Given the description of an element on the screen output the (x, y) to click on. 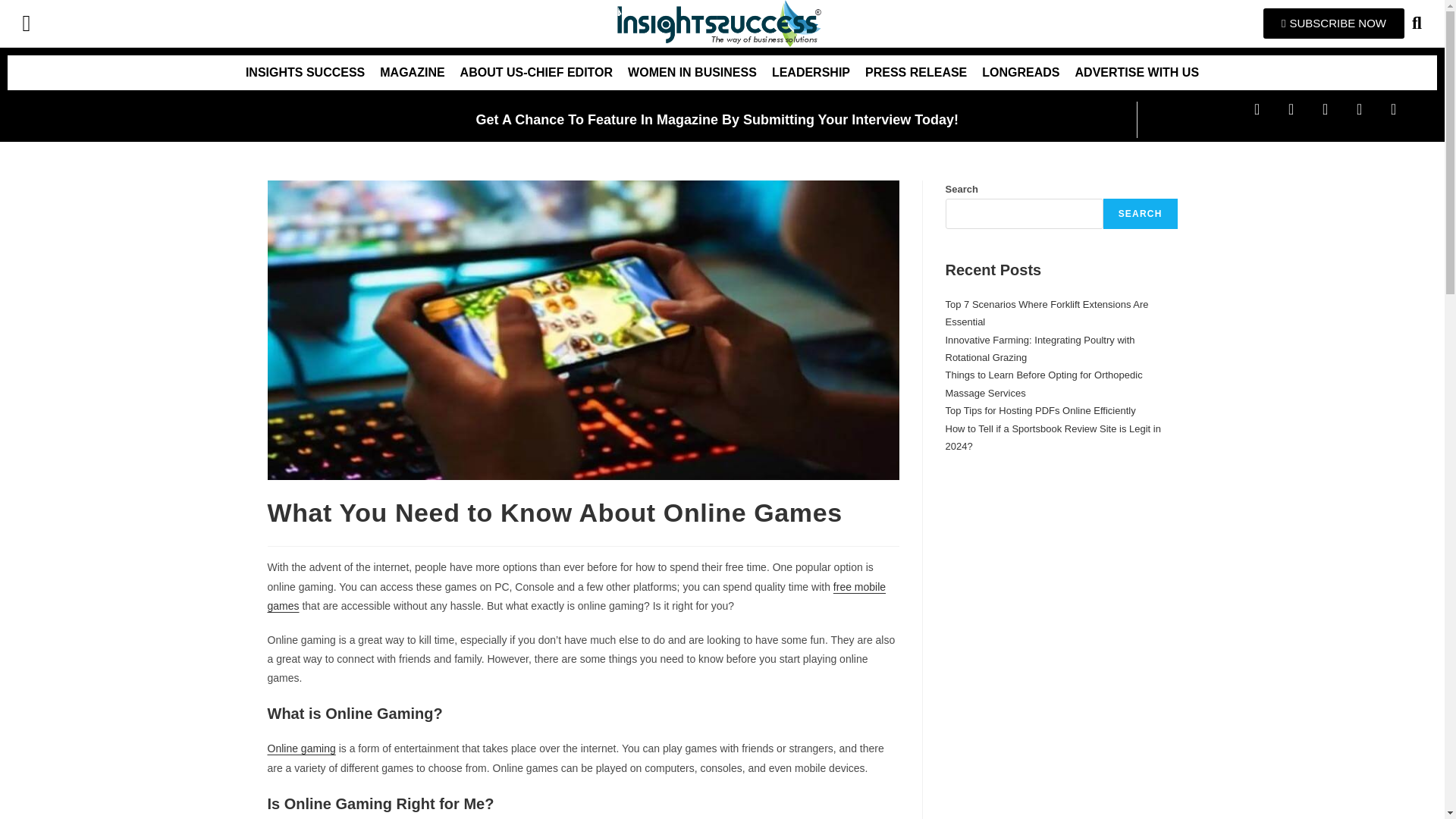
Top Tips for Hosting PDFs Online Efficiently (1039, 410)
How to Tell if a Sportsbook Review Site is Legit in 2024? (1052, 437)
MAGAZINE (411, 72)
Online gaming (300, 748)
LONGREADS (1020, 72)
ABOUT US-CHIEF EDITOR (536, 72)
Top 7 Scenarios Where Forklift Extensions Are Essential (1046, 312)
